Given the description of an element on the screen output the (x, y) to click on. 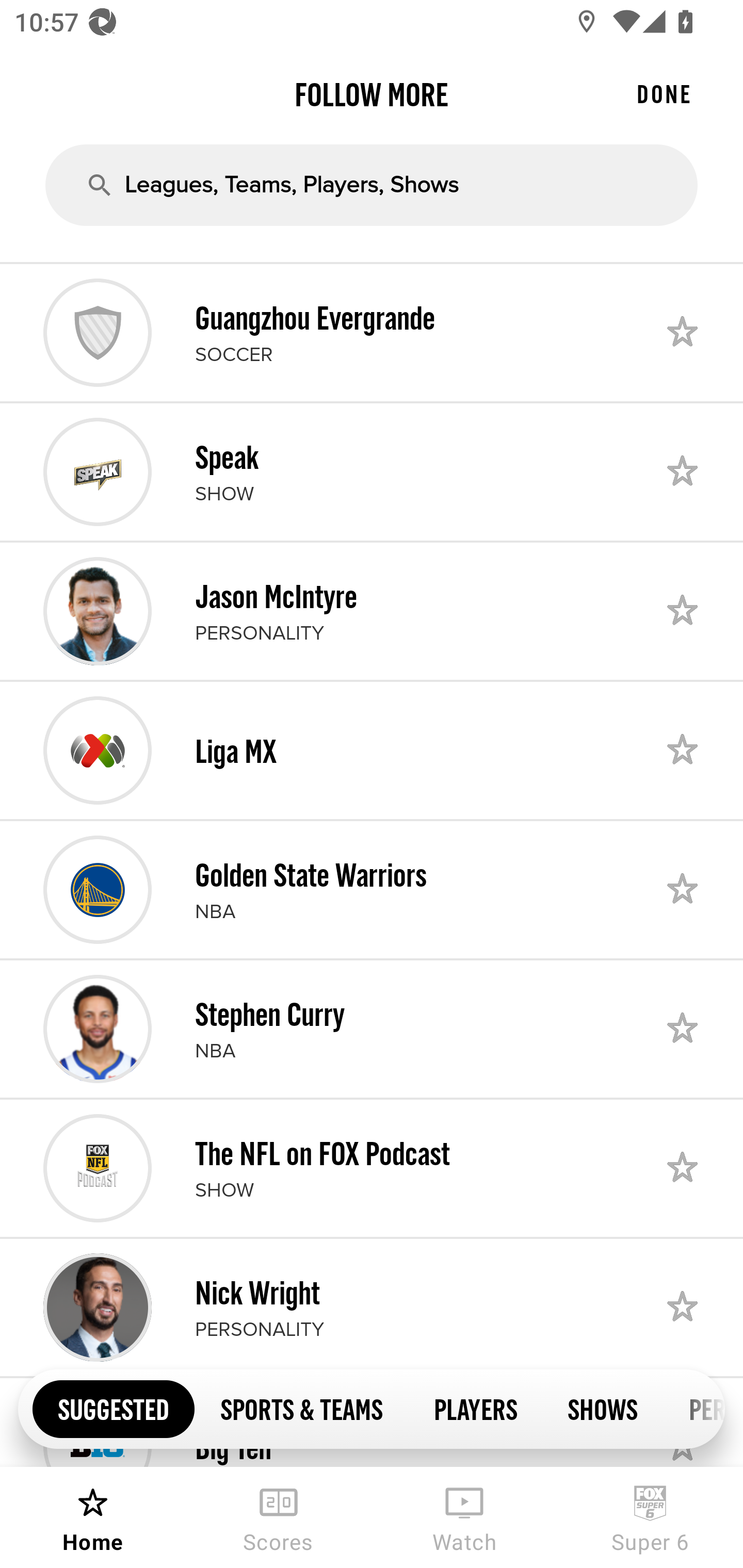
DONE (663, 93)
Leagues, Teams, Players, Shows (371, 184)
Guangzhou Evergrande SOCCER (371, 332)
Speak SHOW (371, 471)
Jason McIntyre PERSONALITY (371, 611)
Liga MX (371, 750)
Golden State Warriors NBA (371, 889)
Stephen Curry NBA (371, 1028)
The NFL on FOX Podcast SHOW (371, 1168)
Nick Wright PERSONALITY (371, 1307)
SPORTS & TEAMS (300, 1408)
PLAYERS (474, 1408)
SHOWS (602, 1408)
Scores (278, 1517)
Watch (464, 1517)
Super 6 (650, 1517)
